Given the description of an element on the screen output the (x, y) to click on. 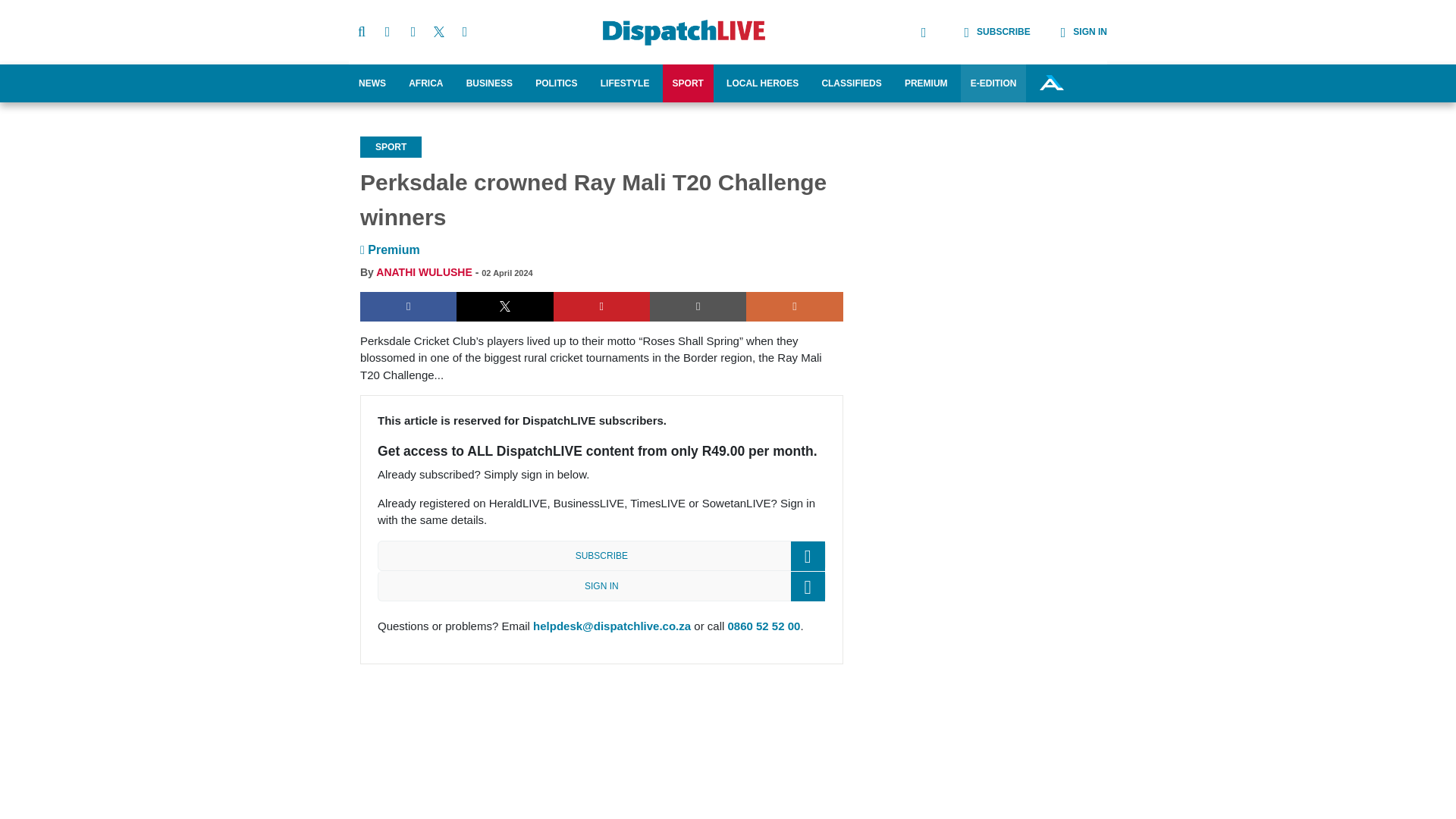
NEWS (372, 83)
PREMIUM (926, 83)
LIFESTYLE (625, 83)
Our Network (1051, 81)
SUBSCRIBE (981, 32)
LOCAL HEROES (762, 83)
AFRICA (425, 83)
CLASSIFIEDS (850, 83)
SIGN IN (1068, 32)
E-EDITION (993, 83)
